Given the description of an element on the screen output the (x, y) to click on. 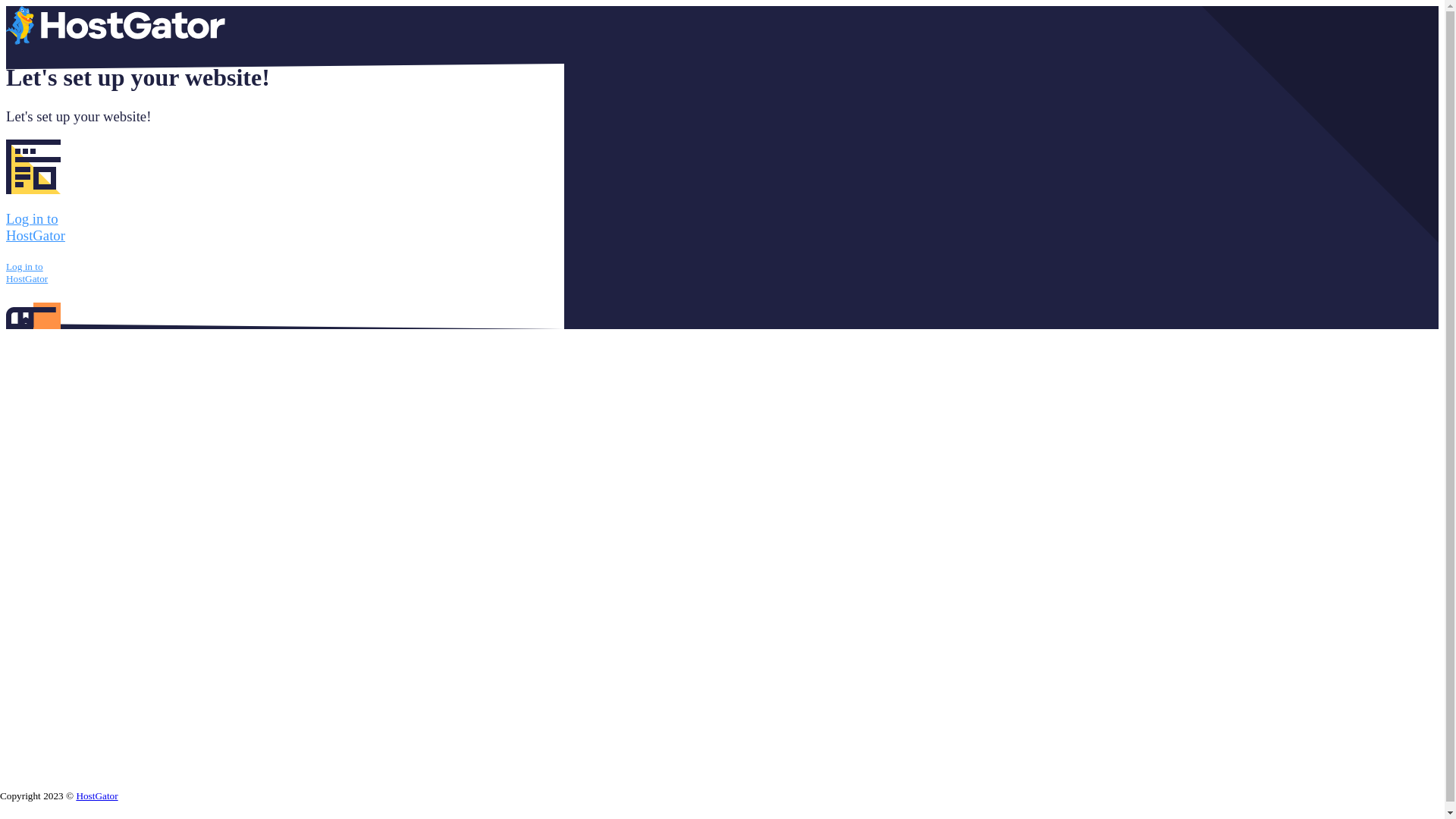
HostGator.com Element type: hover (115, 40)
HostGator Element type: text (96, 795)
Log in to
HostGator
Log in to
HostGator Element type: text (285, 261)
